Given the description of an element on the screen output the (x, y) to click on. 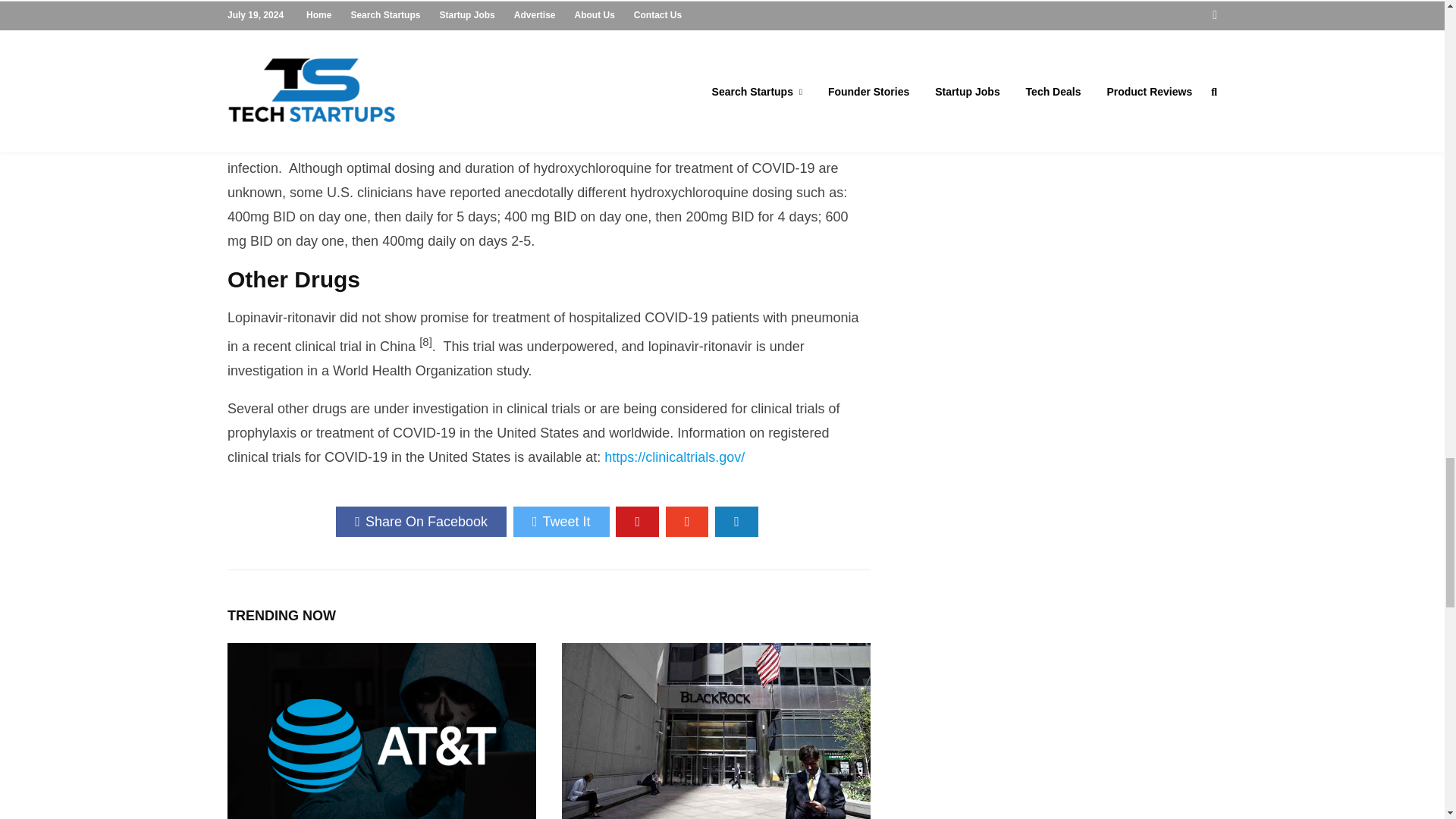
Share by Email (736, 521)
Share On Twitter (561, 521)
Share On Pinterest (637, 521)
Share On Facebook (421, 521)
